Given the description of an element on the screen output the (x, y) to click on. 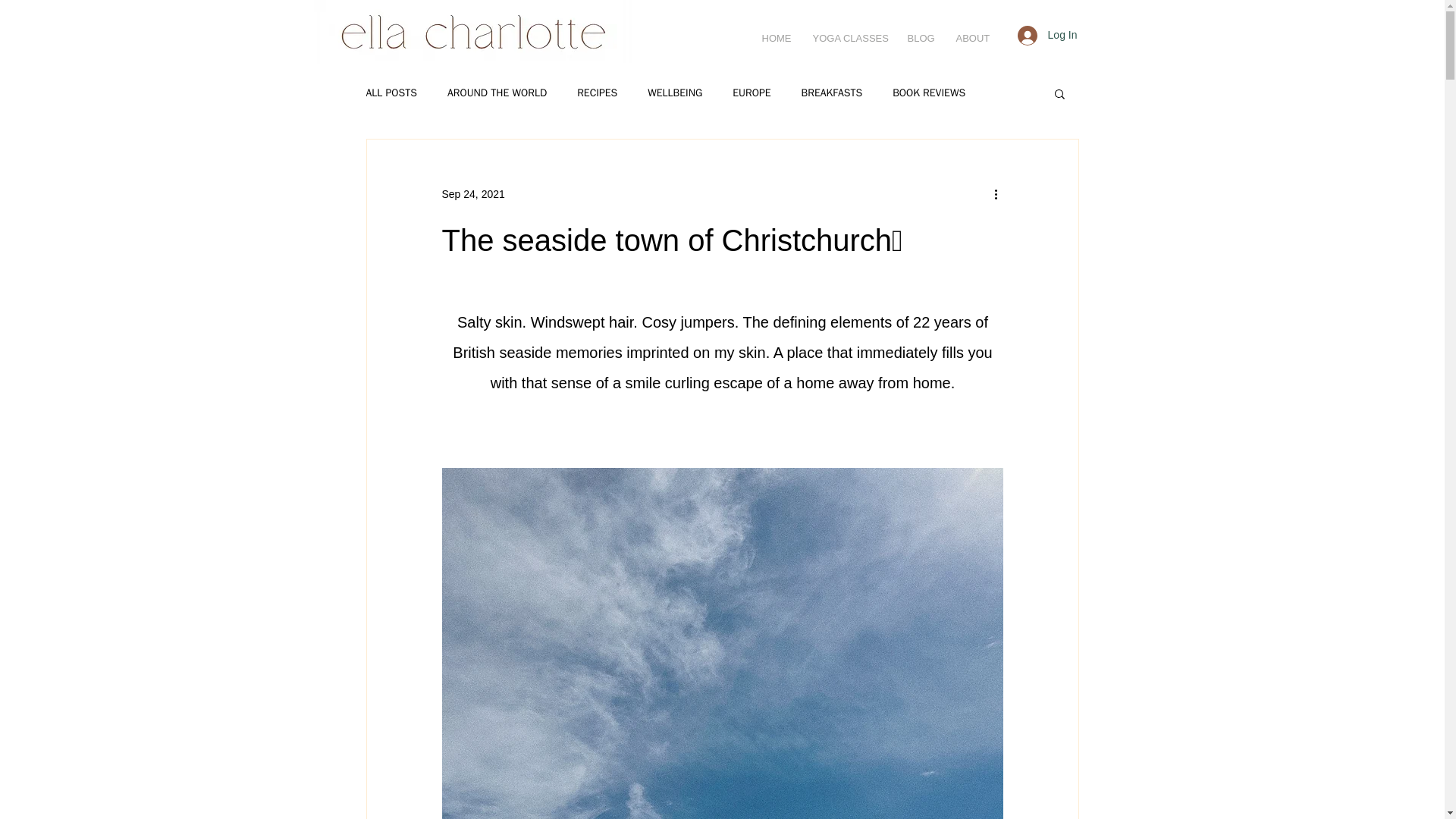
Log In (1047, 35)
BREAKFASTS (832, 92)
WELLBEING (674, 92)
HOME (776, 38)
BLOG (920, 38)
ALL POSTS (390, 92)
ABOUT (972, 38)
BOOK REVIEWS (928, 92)
Sep 24, 2021 (472, 193)
AROUND THE WORLD (496, 92)
